Given the description of an element on the screen output the (x, y) to click on. 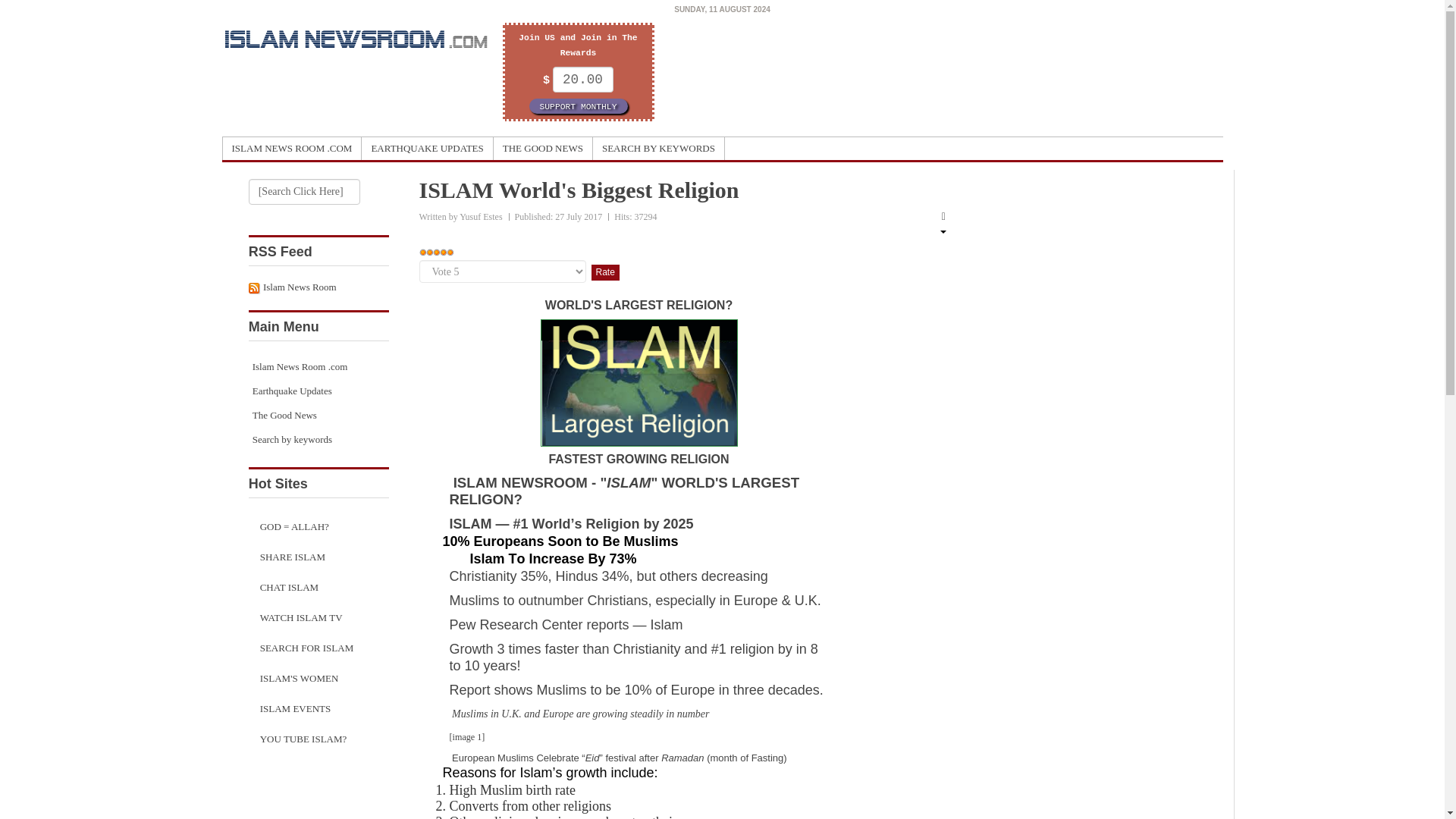
ISLAM'S WOMEN (318, 678)
Earthquake Updates (318, 391)
Support Monthly (578, 105)
FASTEST GROWING RELIGION (638, 459)
Rate (605, 272)
YOU TUBE ISLAM? (318, 738)
Support Monthly (578, 105)
EARTHQUAKE UPDATES (427, 148)
ISLAM NEWS ROOM .COM (292, 148)
SHARE ISLAM (318, 557)
